Given the description of an element on the screen output the (x, y) to click on. 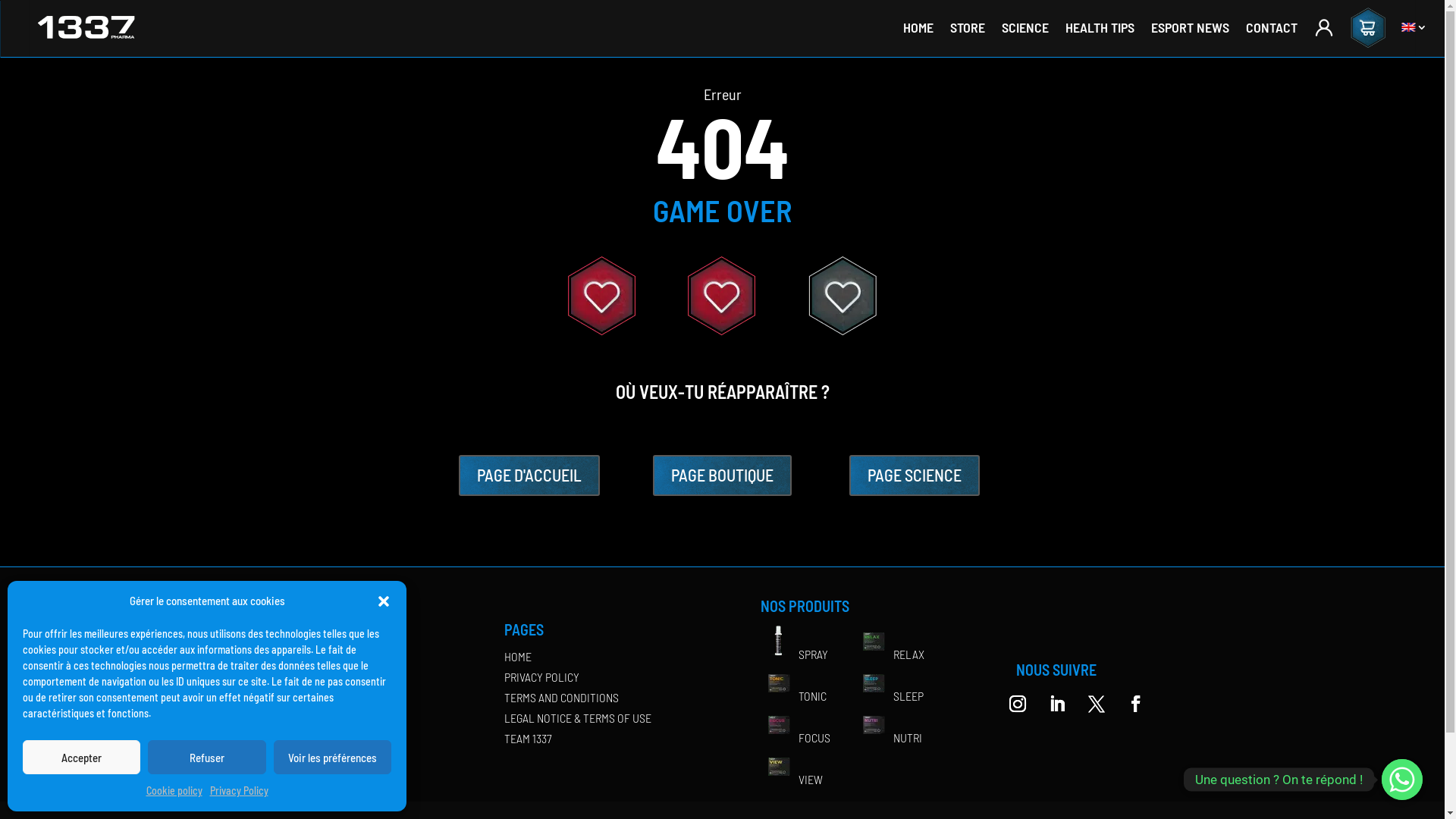
Accepter Element type: text (81, 757)
Privacy Policy Element type: text (238, 790)
STORE Element type: text (967, 27)
PAGE BOUTIQUE Element type: text (721, 475)
BASKET Element type: text (1368, 27)
Follow on LinkedIn Element type: hover (1056, 703)
VIEW Element type: text (790, 778)
LEGAL NOTICE & TERMS OF USE Element type: text (577, 717)
HEALTH TIPS Element type: text (1099, 27)
Cookie policy Element type: text (173, 790)
PAGE SCIENCE Element type: text (914, 475)
Icon+d Element type: hover (721, 331)
HOME Element type: text (517, 656)
Follow on Instagram Element type: hover (1017, 703)
WORD_WHITE Element type: hover (329, 721)
Icon+d Element type: hover (601, 331)
SCIENCE Element type: text (1024, 27)
ESPORT NEWS Element type: text (1190, 27)
TEAM 1337 Element type: text (528, 738)
FOCUS Element type: text (794, 737)
PAGE D'ACCUEIL Element type: text (528, 475)
RELAX Element type: text (889, 653)
Follow on X Element type: hover (1096, 703)
PRIVACY POLICY Element type: text (541, 676)
HOME Element type: text (918, 27)
CONTACT Element type: text (1271, 27)
SLEEP Element type: text (889, 695)
Refuser Element type: text (206, 757)
TONIC Element type: text (792, 695)
TERMS AND CONDITIONS Element type: text (561, 697)
Follow on Facebook Element type: hover (1135, 703)
MY ACCOUNT Element type: text (1324, 27)
NUTRI Element type: text (888, 737)
SPRAY Element type: text (793, 653)
Icon+ Element type: hover (842, 331)
